Given the description of an element on the screen output the (x, y) to click on. 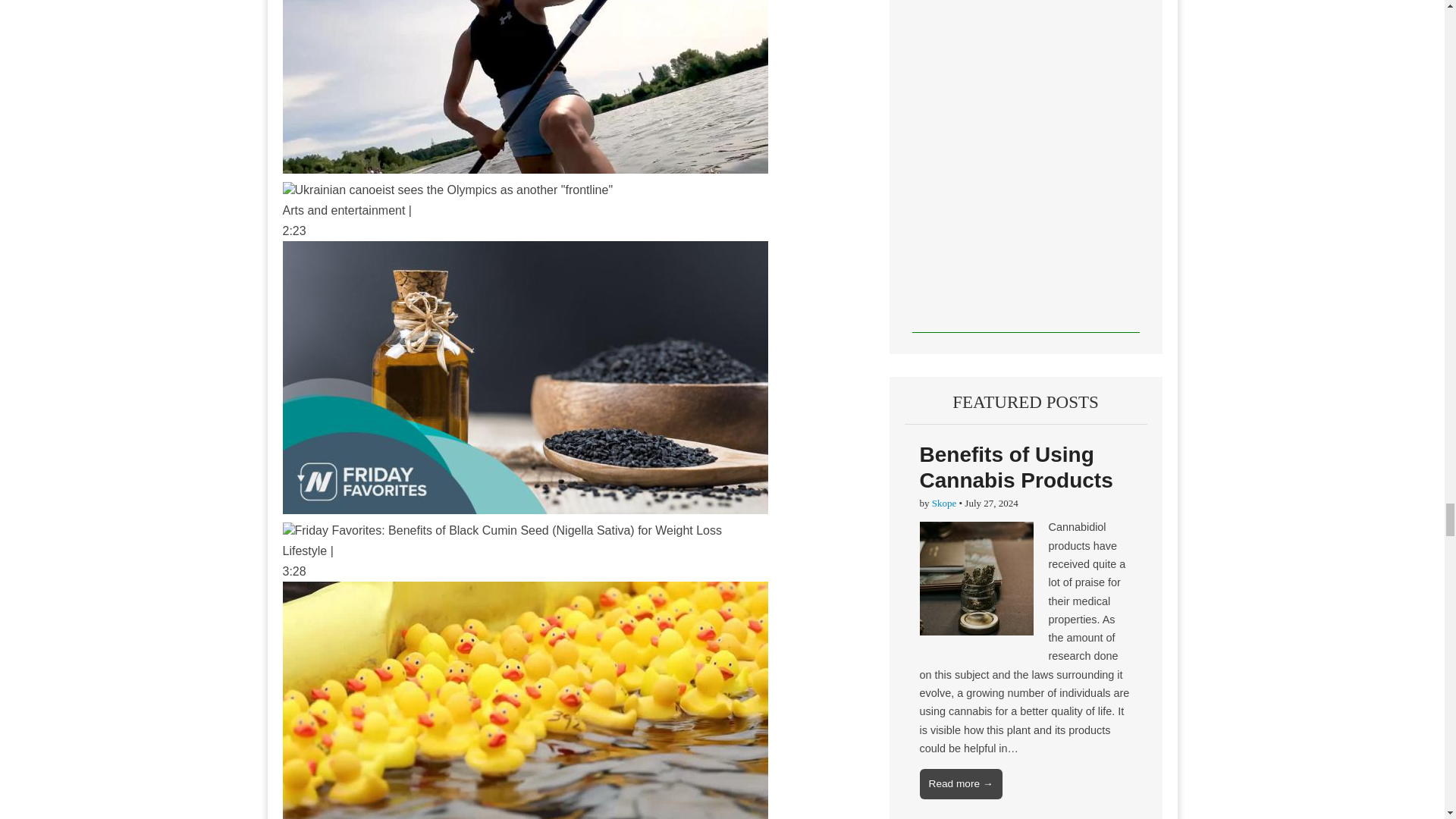
Posts by Skope (943, 502)
